Given the description of an element on the screen output the (x, y) to click on. 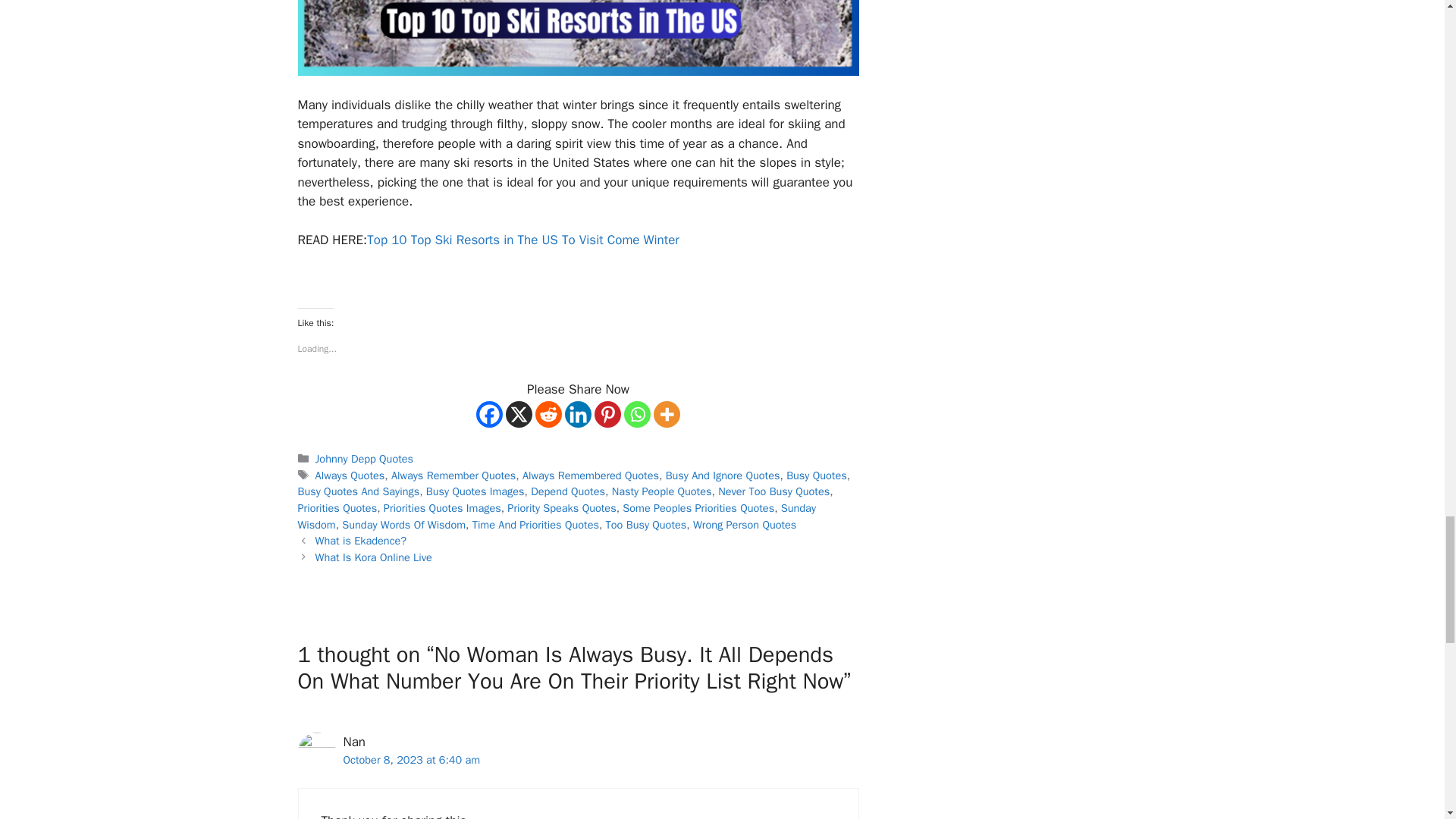
Depend Quotes (568, 490)
Nasty People Quotes (661, 490)
Whatsapp (637, 414)
Busy Quotes Images (475, 490)
Facebook (489, 414)
Always Remembered Quotes (590, 475)
Busy Quotes (816, 475)
Linkedin (577, 414)
X (518, 414)
Always Remember Quotes (453, 475)
Priorities Quotes Images (442, 508)
Reddit (548, 414)
Top 10 Top Ski Resorts in The US To Visit Come Winter (522, 239)
Always Quotes (350, 475)
Busy Quotes And Sayings (358, 490)
